Given the description of an element on the screen output the (x, y) to click on. 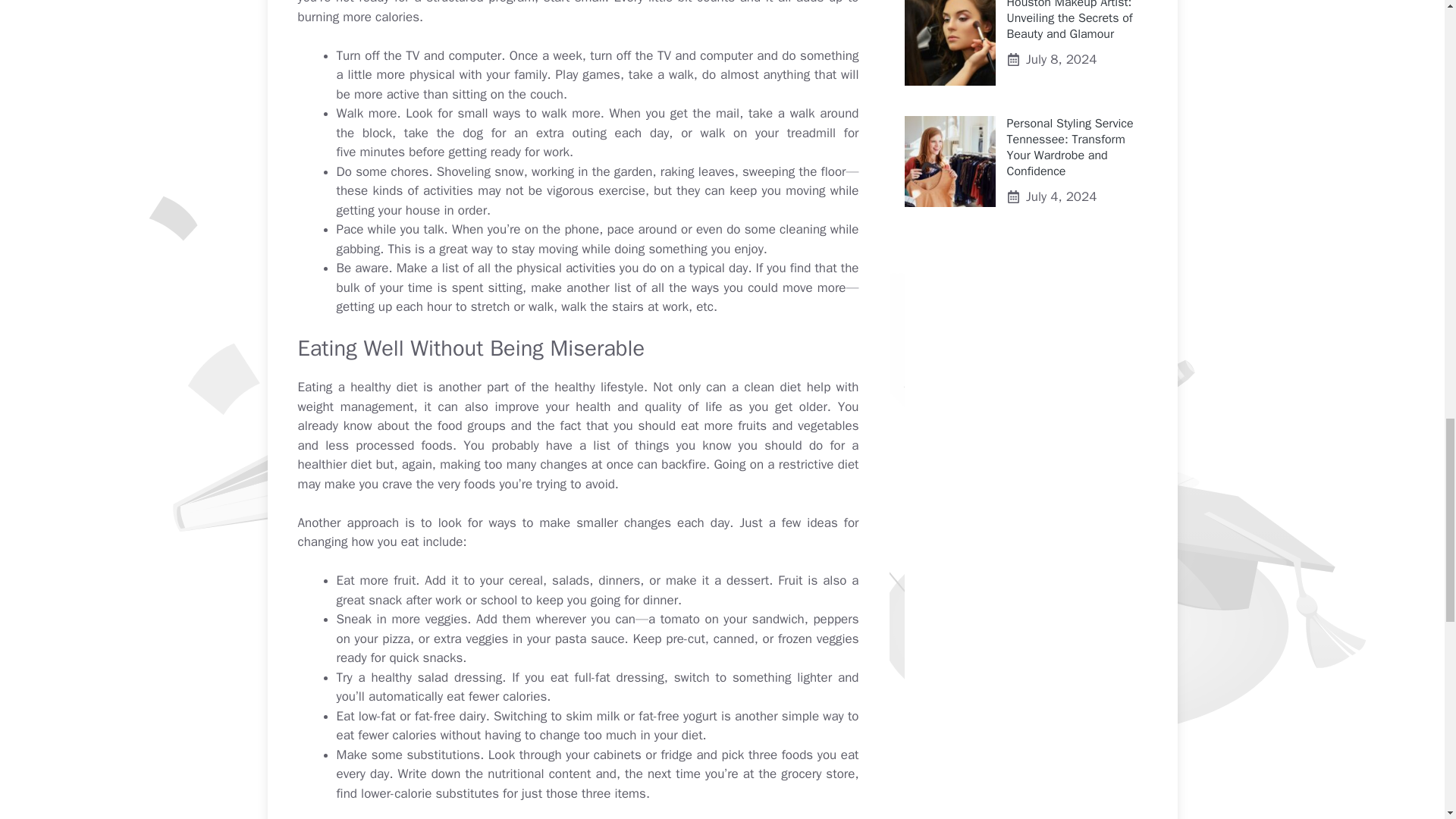
Do some chores (382, 171)
Walk more (366, 113)
grocery store (817, 773)
Eat more fruit (376, 580)
Try a healthy salad dressing (419, 677)
